Given the description of an element on the screen output the (x, y) to click on. 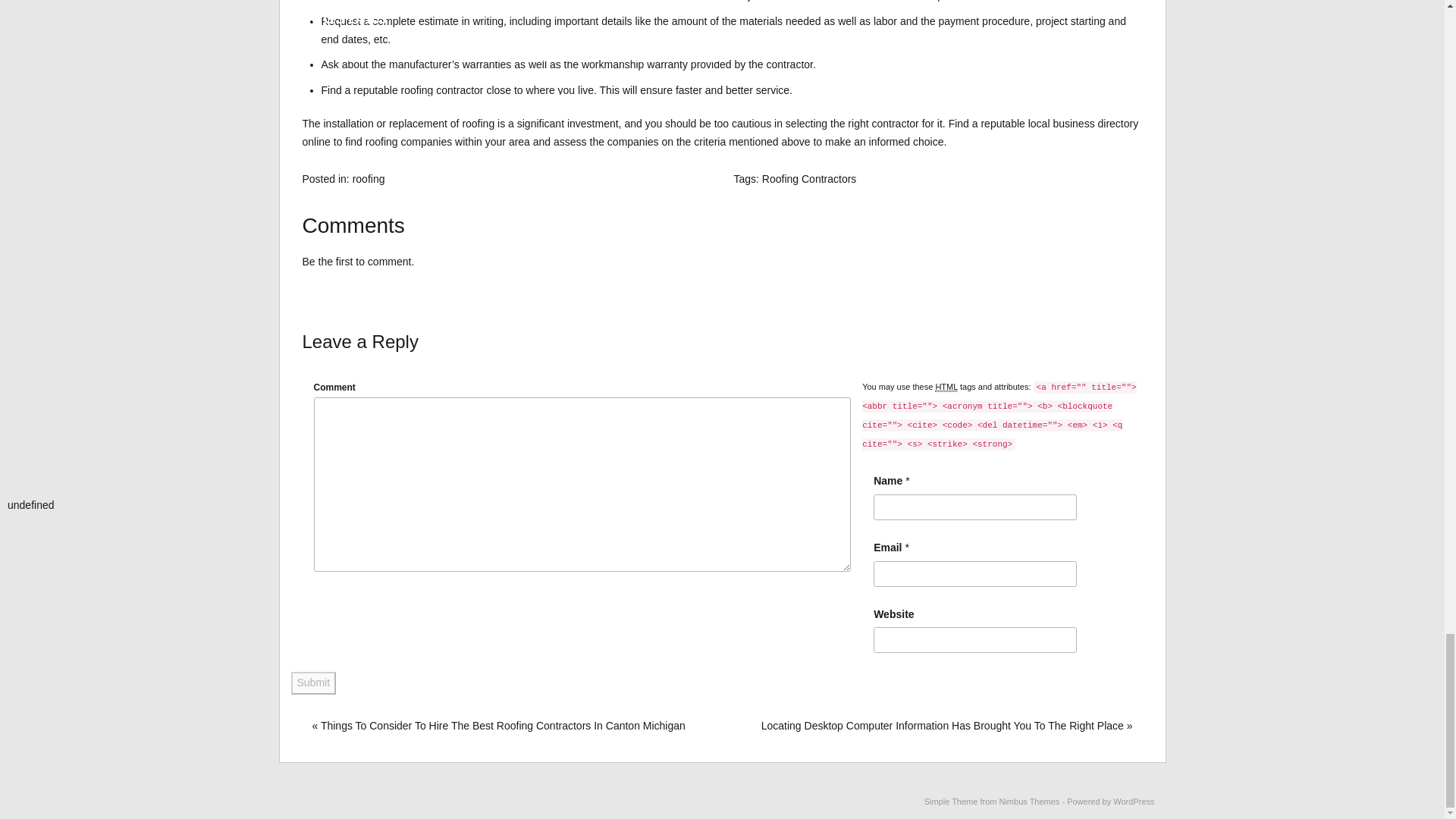
WordPress (1133, 800)
Roofing Contractors (809, 178)
HyperText Markup Language (946, 387)
Nimbus Themes (1028, 800)
roofing (368, 178)
Submit (313, 682)
Submit (313, 682)
